Given the description of an element on the screen output the (x, y) to click on. 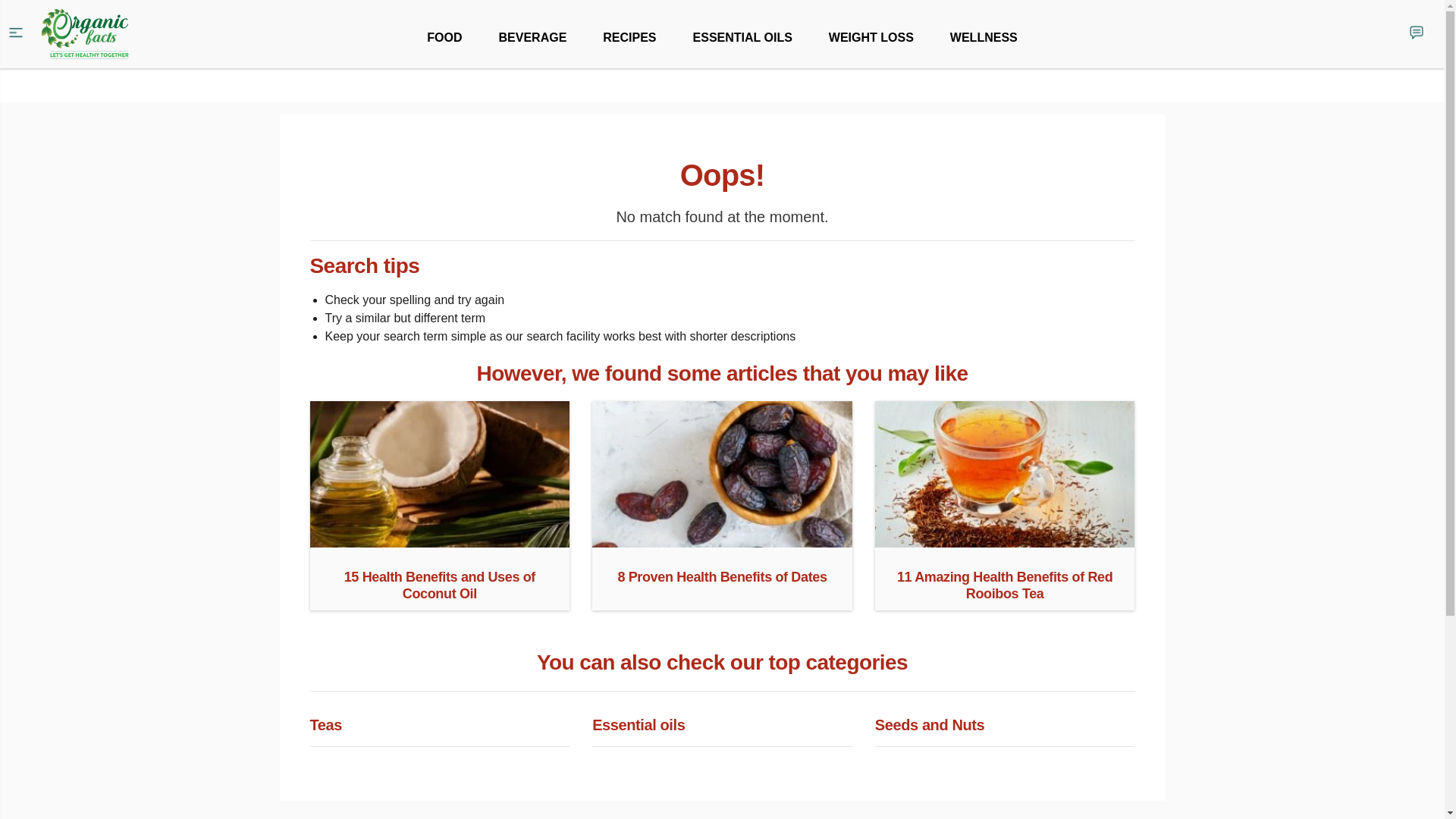
15 Health Benefits and Uses of Coconut Oil (438, 541)
11 Amazing Health Benefits of Red Rooibos Tea (1005, 541)
Organic Facts (85, 34)
8 Proven Health Benefits of Dates (721, 541)
